Given the description of an element on the screen output the (x, y) to click on. 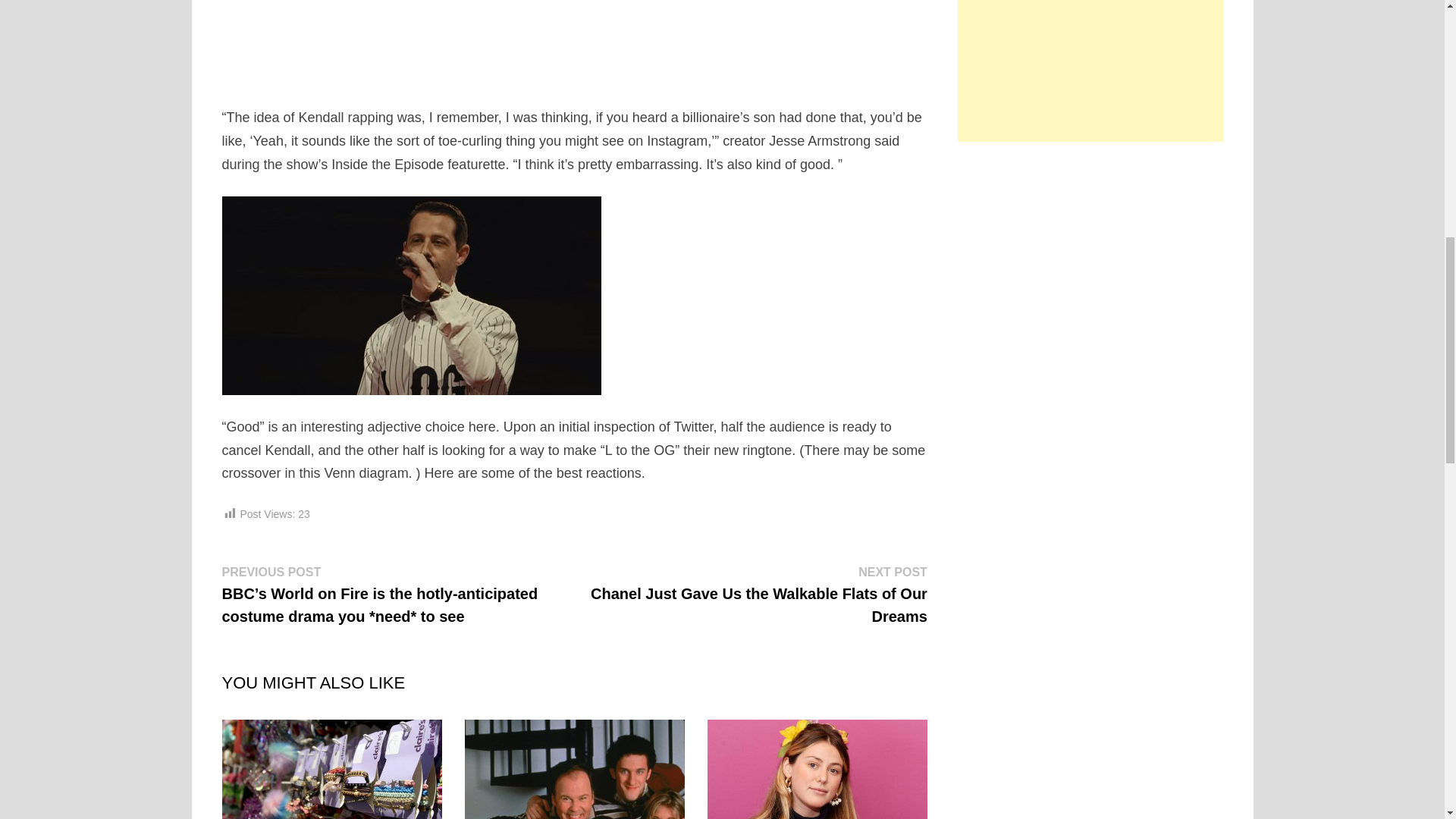
Advertisement (1090, 70)
Advertisement (574, 39)
